Given the description of an element on the screen output the (x, y) to click on. 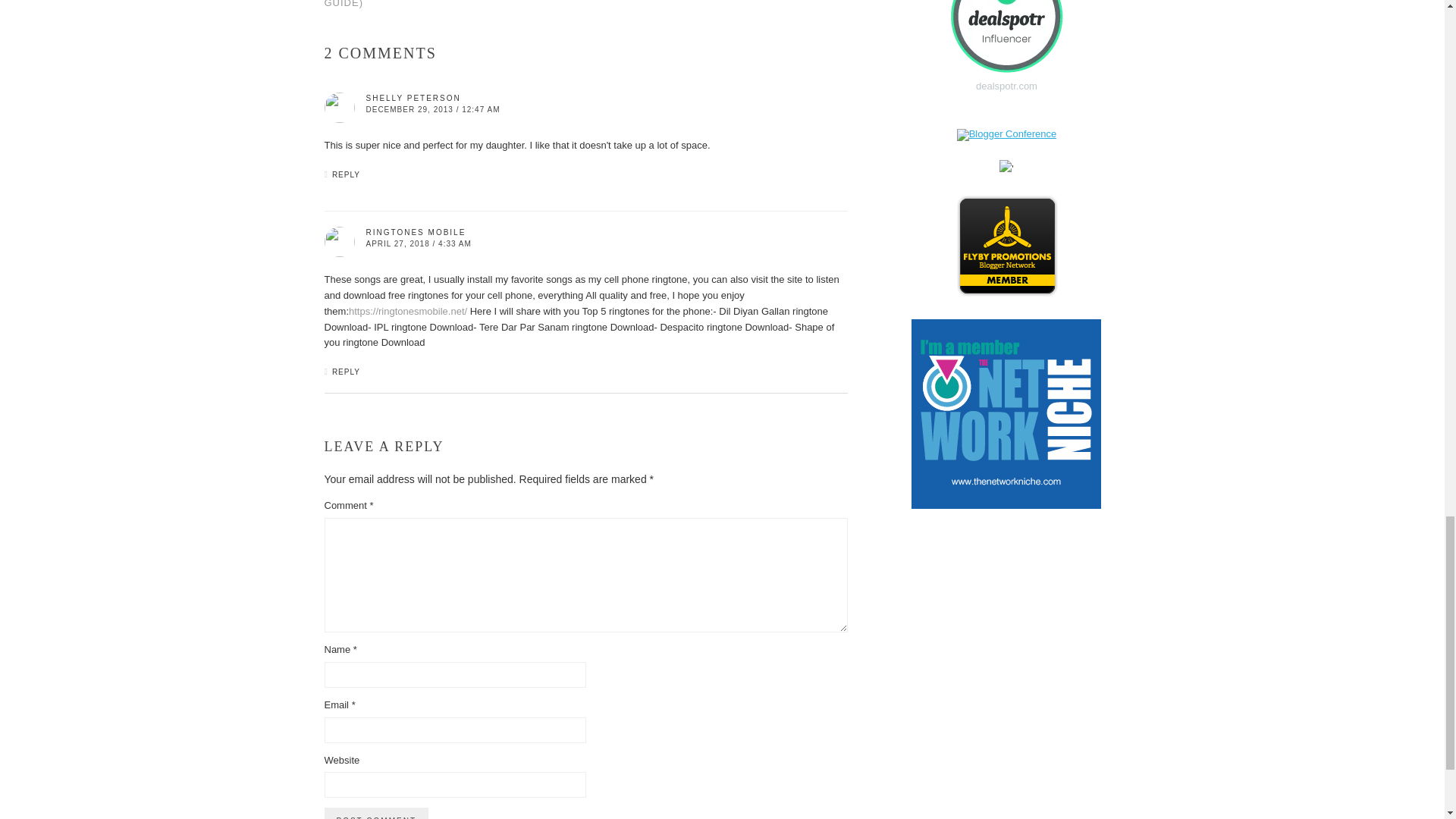
Post Comment (376, 813)
Blogger Conference (1006, 133)
The Network Niche (1005, 505)
Post Comment (376, 813)
REPLY (345, 174)
REPLY (345, 371)
